Given the description of an element on the screen output the (x, y) to click on. 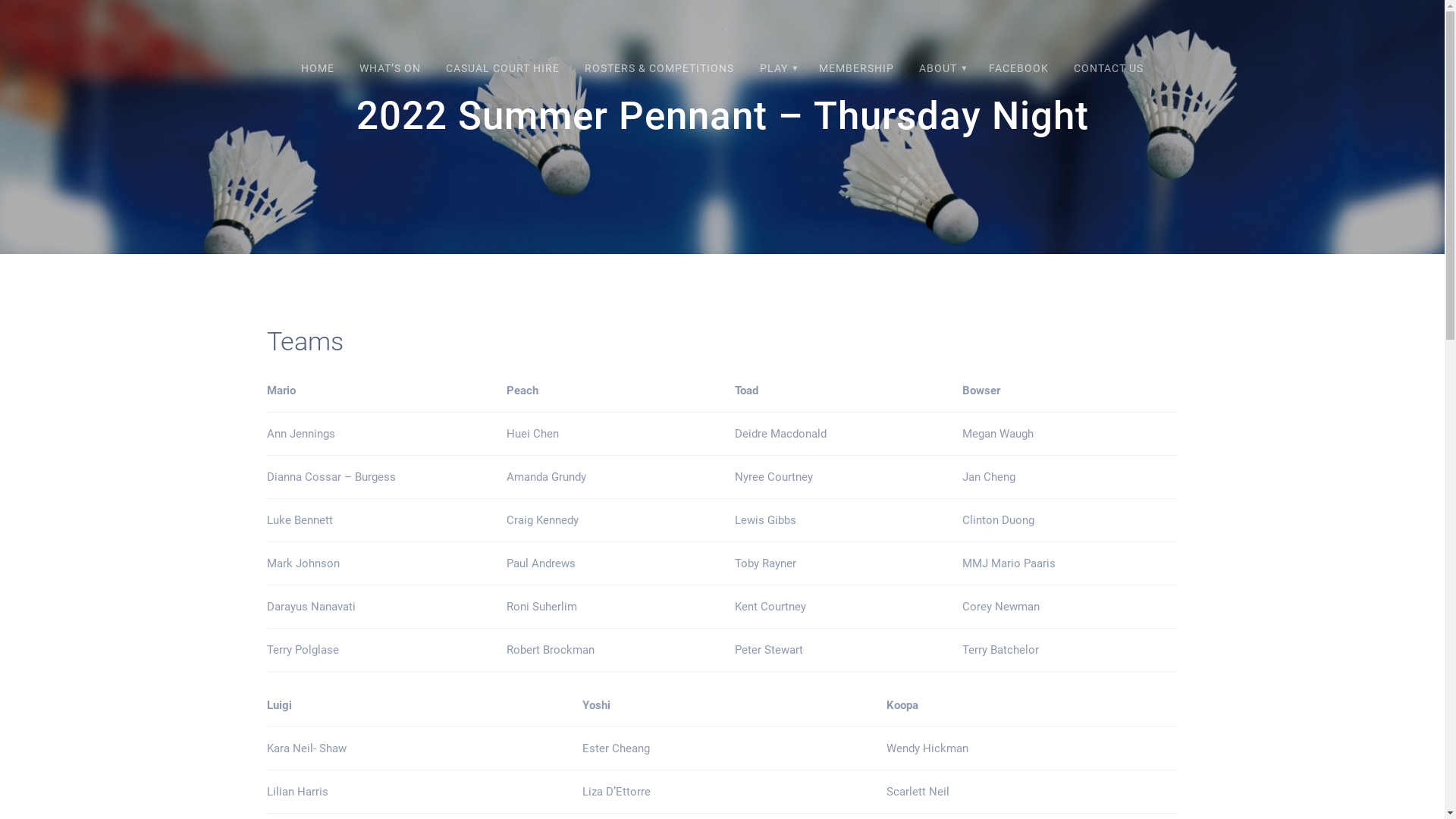
ROSTERS & COMPETITIONS Element type: text (659, 68)
Skip to content Element type: text (0, 0)
HOME Element type: text (317, 68)
PLAY Element type: text (776, 68)
CASUAL COURT HIRE Element type: text (502, 68)
MEMBERSHIP Element type: text (856, 68)
CONTACT US Element type: text (1108, 68)
FACEBOOK Element type: text (1018, 68)
ABOUT Element type: text (941, 68)
